Given the description of an element on the screen output the (x, y) to click on. 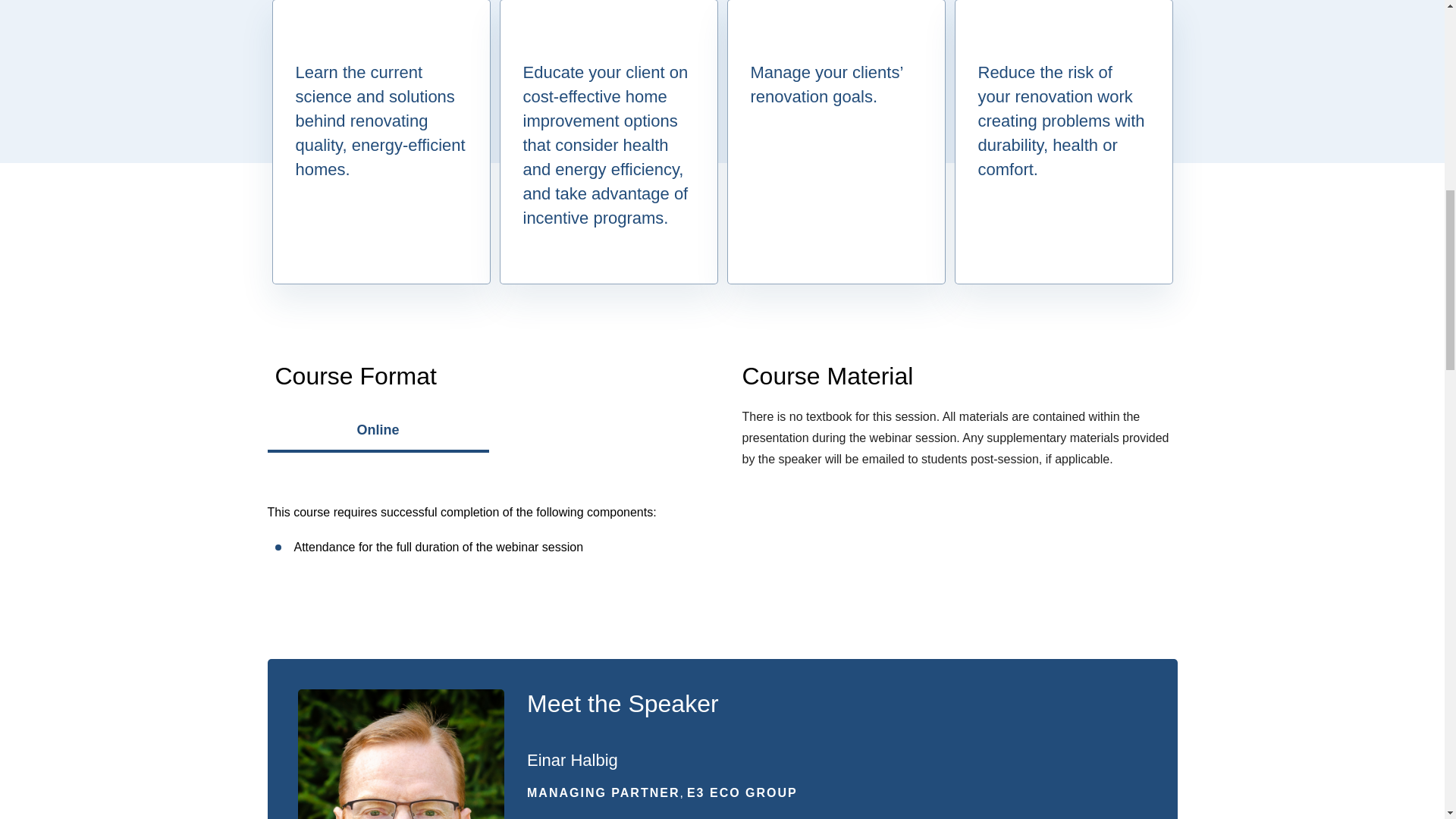
Online (376, 436)
